Given the description of an element on the screen output the (x, y) to click on. 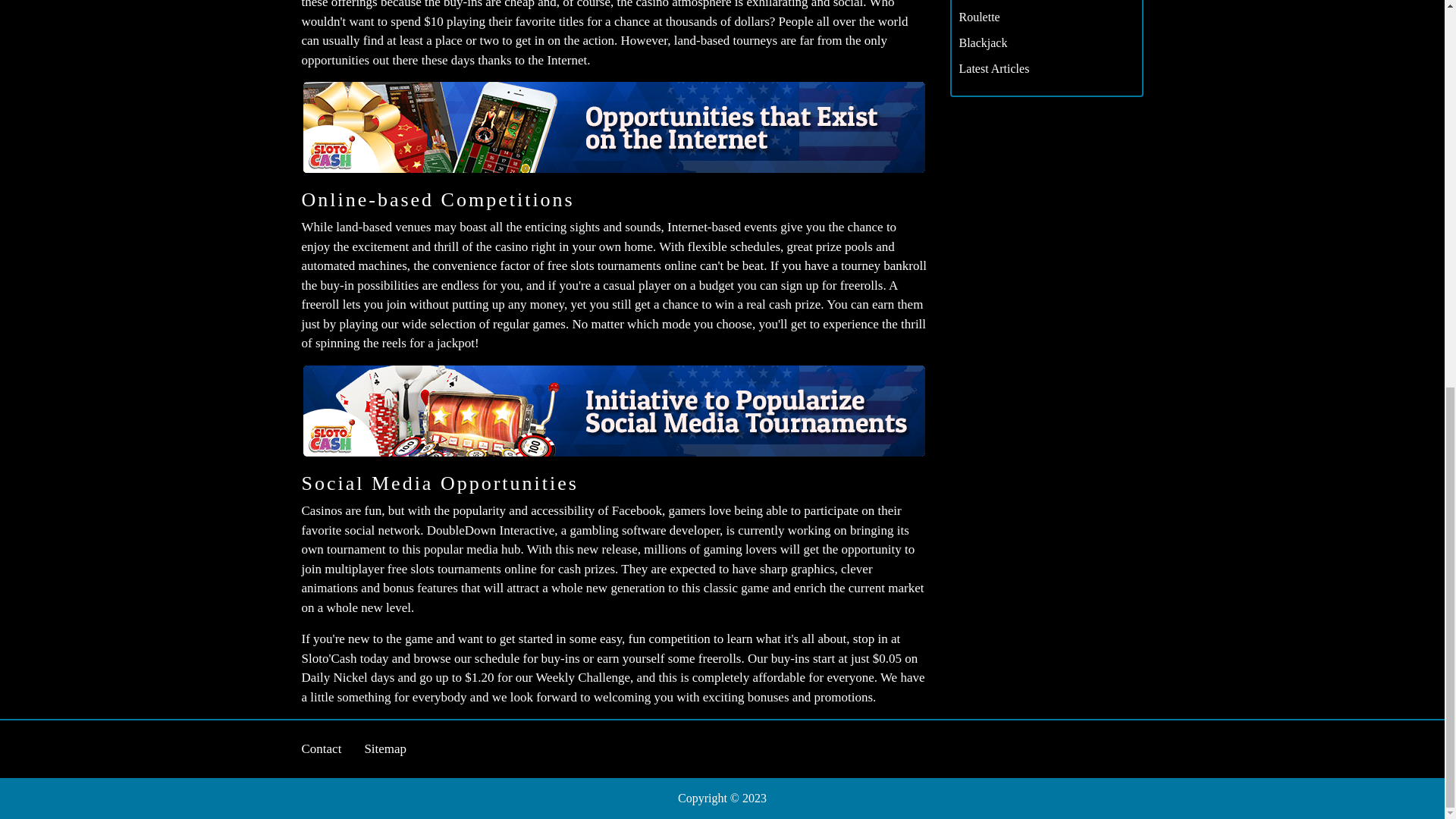
Latest Articles (993, 68)
Sitemap (385, 748)
Blackjack (982, 42)
Roulette (978, 16)
Contact (321, 748)
